Given the description of an element on the screen output the (x, y) to click on. 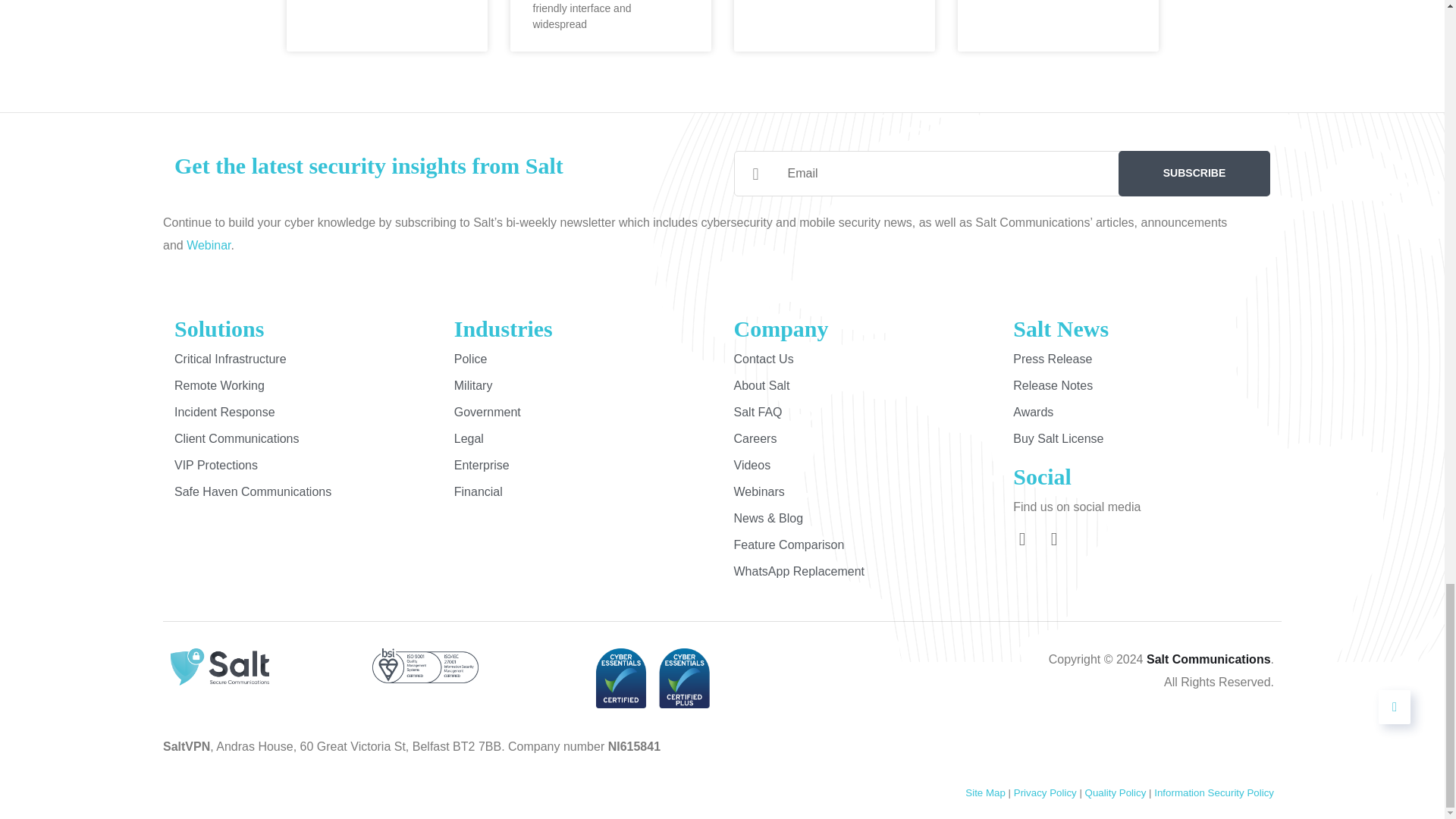
Subscribe (1193, 173)
